Given the description of an element on the screen output the (x, y) to click on. 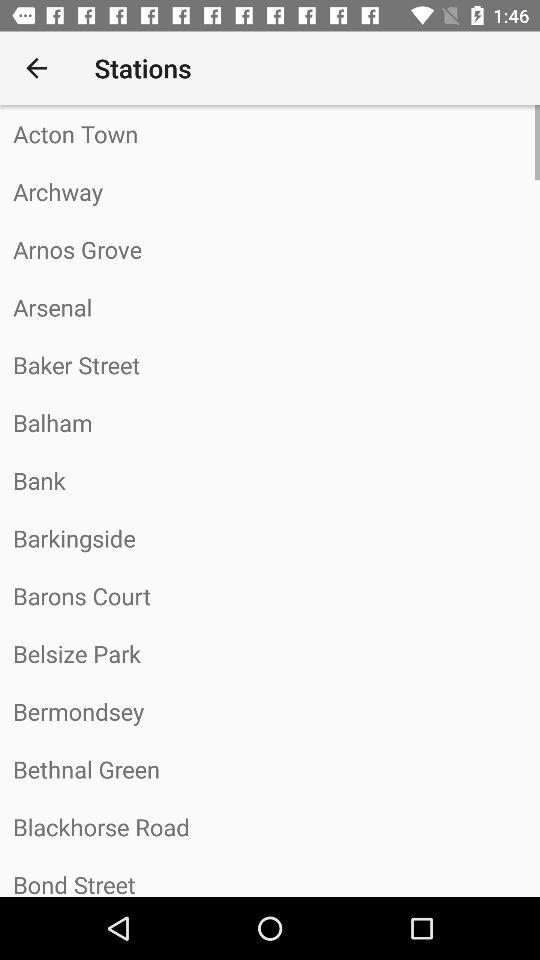
scroll to bond street icon (270, 875)
